Given the description of an element on the screen output the (x, y) to click on. 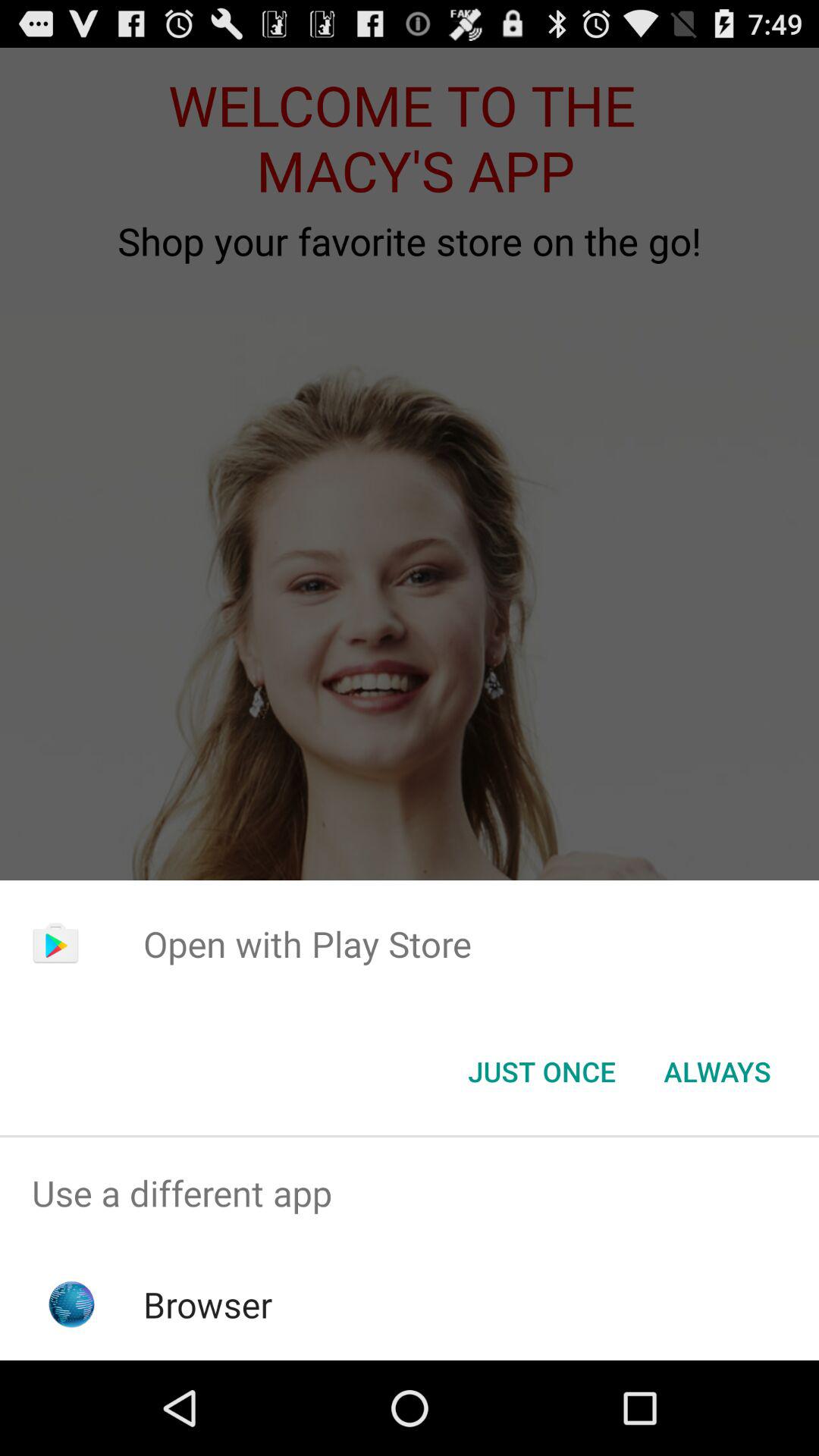
press the icon to the left of always (541, 1071)
